Given the description of an element on the screen output the (x, y) to click on. 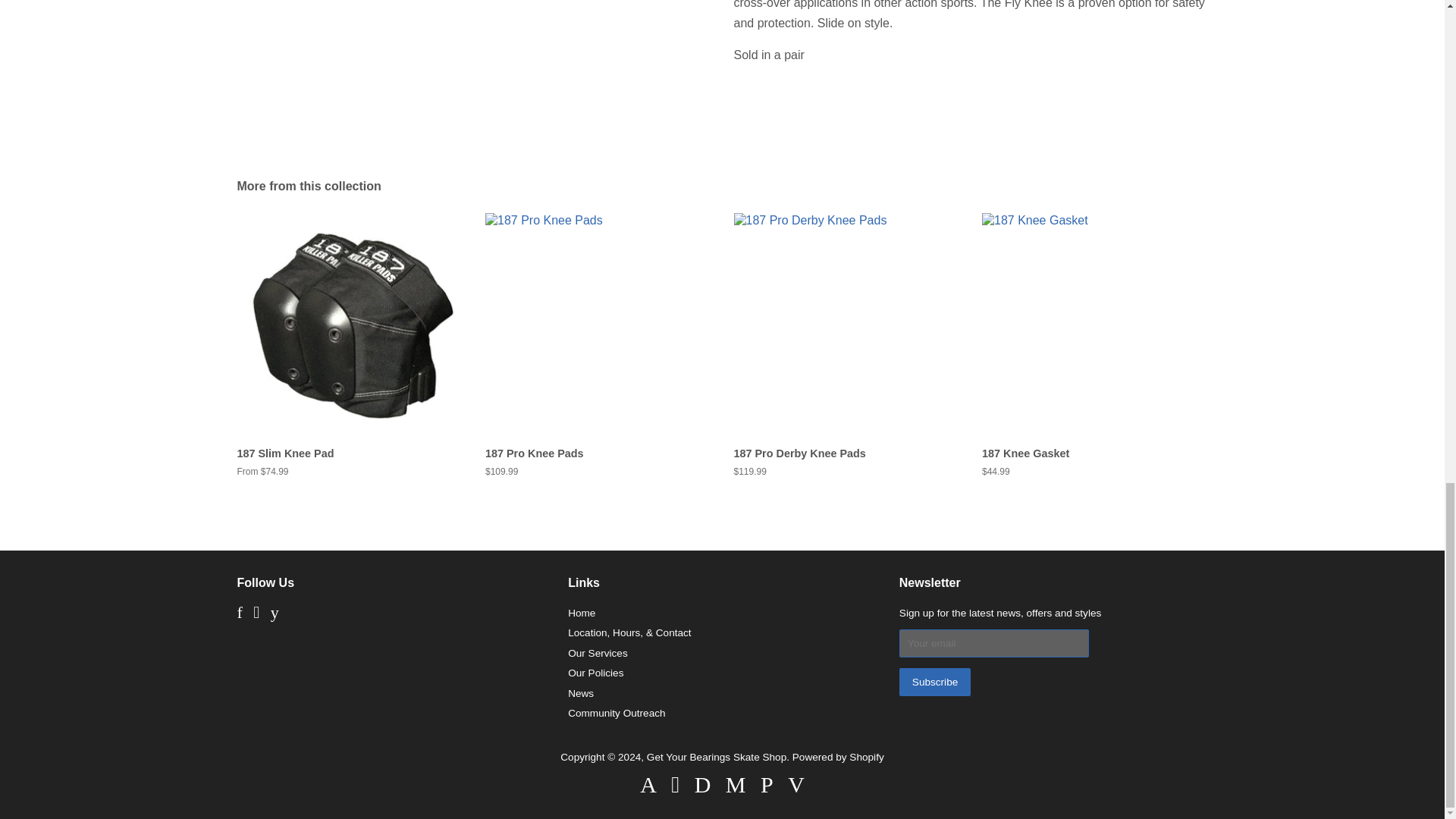
Get Your Bearings Skate Shop on YouTube (274, 614)
Subscribe (935, 682)
Get Your Bearings Skate Shop on Facebook (238, 614)
Get Your Bearings Skate Shop on Instagram (256, 614)
